Given the description of an element on the screen output the (x, y) to click on. 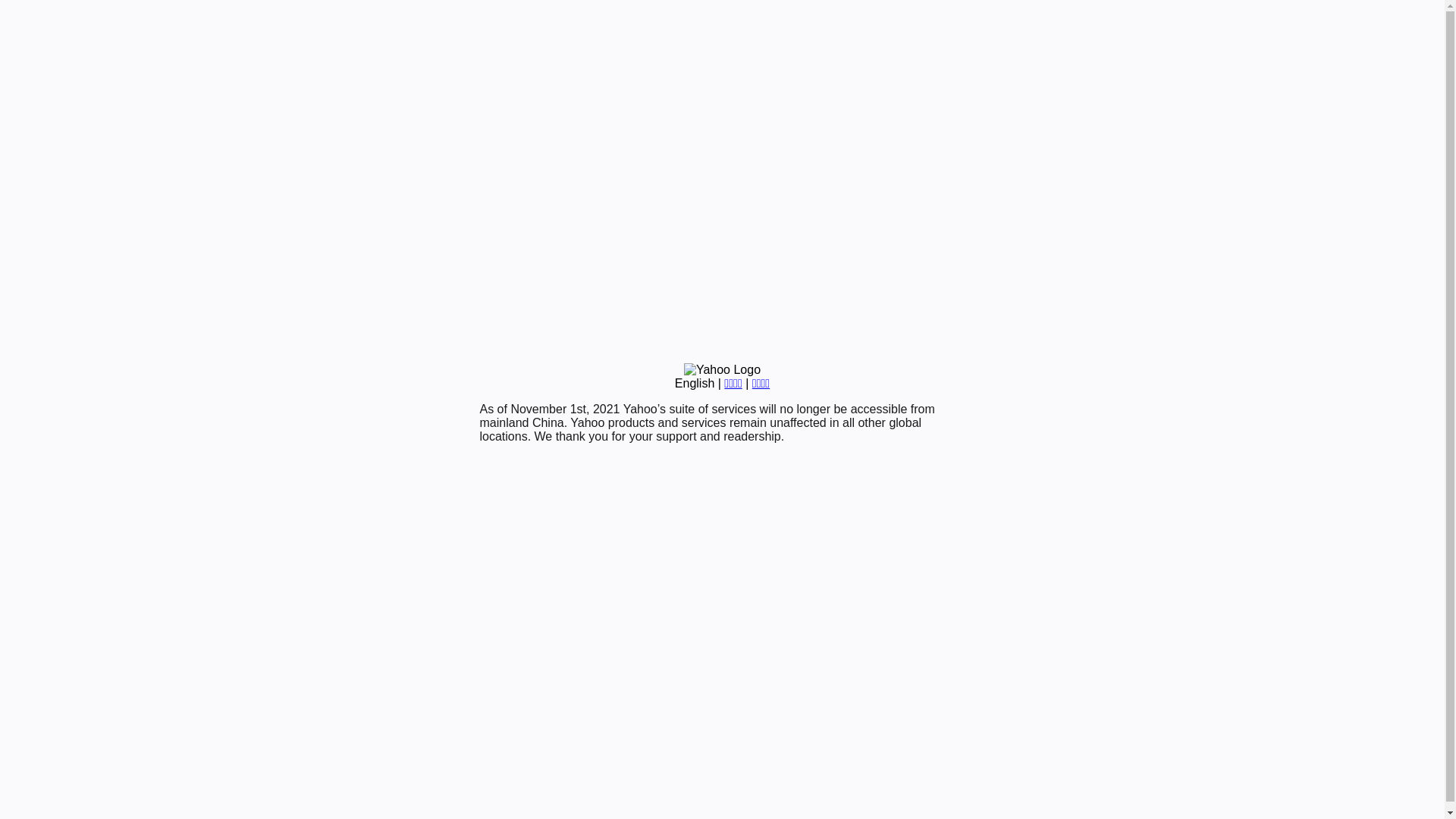
English Element type: text (694, 382)
